Given the description of an element on the screen output the (x, y) to click on. 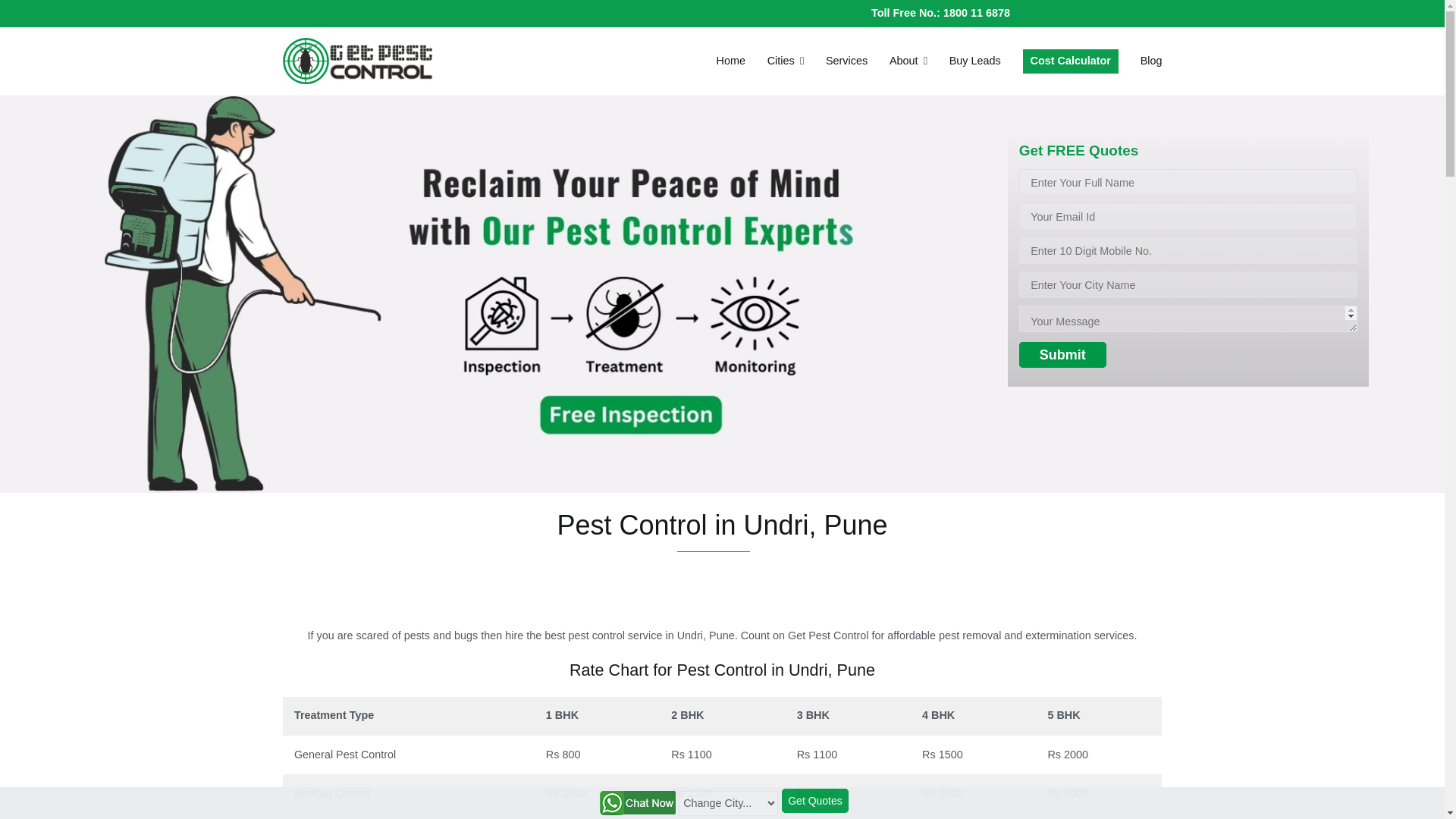
Cities (785, 61)
1800 11 6878 (976, 12)
Cost Calculator (1070, 61)
Blog (1150, 61)
1800 11 6878 (976, 12)
Services (846, 61)
Buy Leads (975, 61)
About (908, 61)
Home (730, 61)
